Given the description of an element on the screen output the (x, y) to click on. 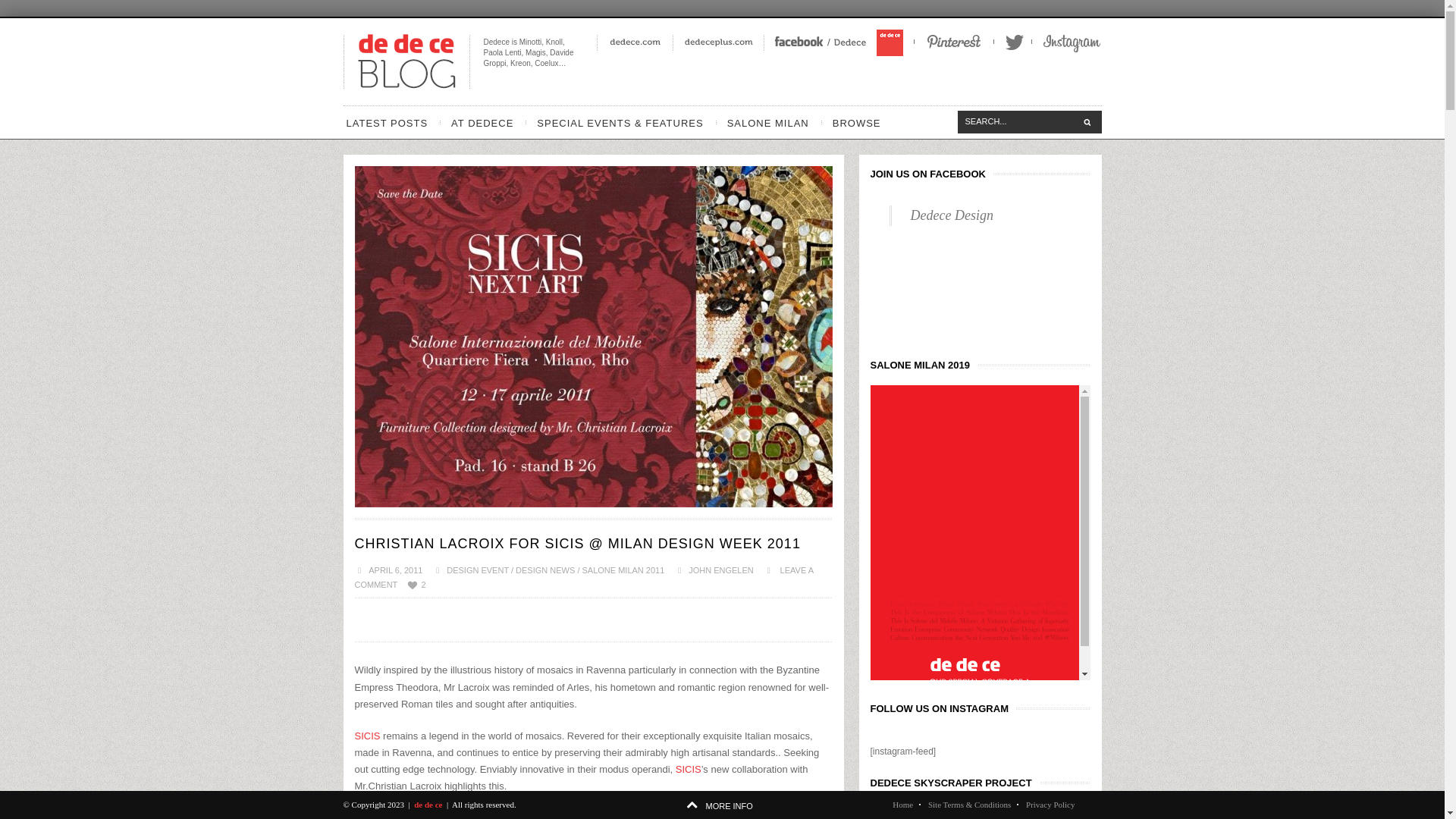
dedece.com (633, 42)
Twitter (1011, 42)
LEAVE A COMMENT (584, 576)
Twitter (1011, 42)
Minotti (530, 41)
DESIGN EVENT (477, 569)
Knoll (554, 41)
LEAVE A COMMENT (584, 576)
SALONE MILAN 2011 (623, 569)
Magis (535, 52)
Facebook (837, 42)
Dedece Blog (405, 61)
AT DEDECE (482, 122)
2 (416, 585)
Kreon (521, 62)
